Given the description of an element on the screen output the (x, y) to click on. 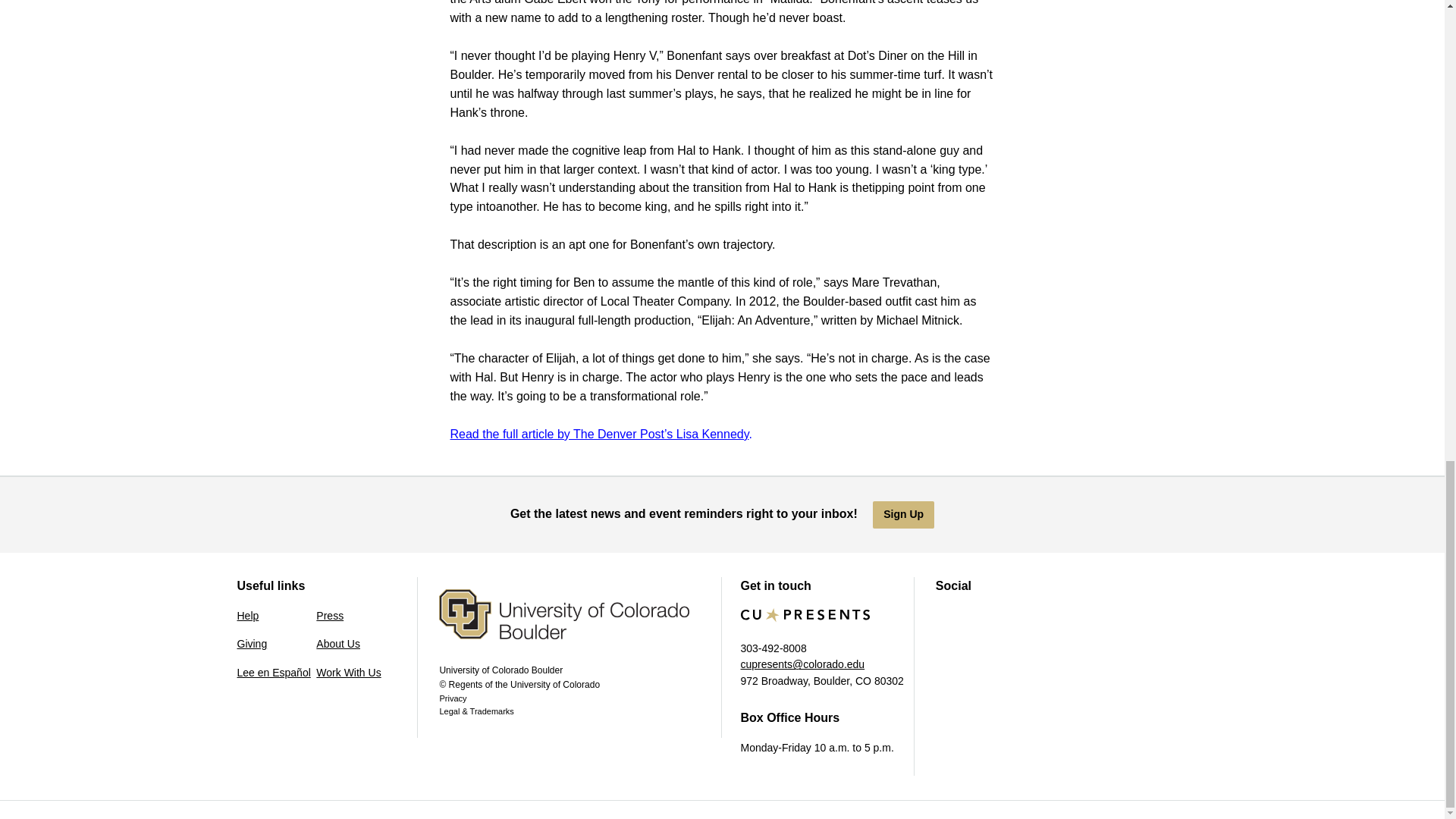
YouTube (1011, 619)
Facebook (947, 619)
University of Colorado Boulder (579, 626)
Instagram (979, 619)
